Given the description of an element on the screen output the (x, y) to click on. 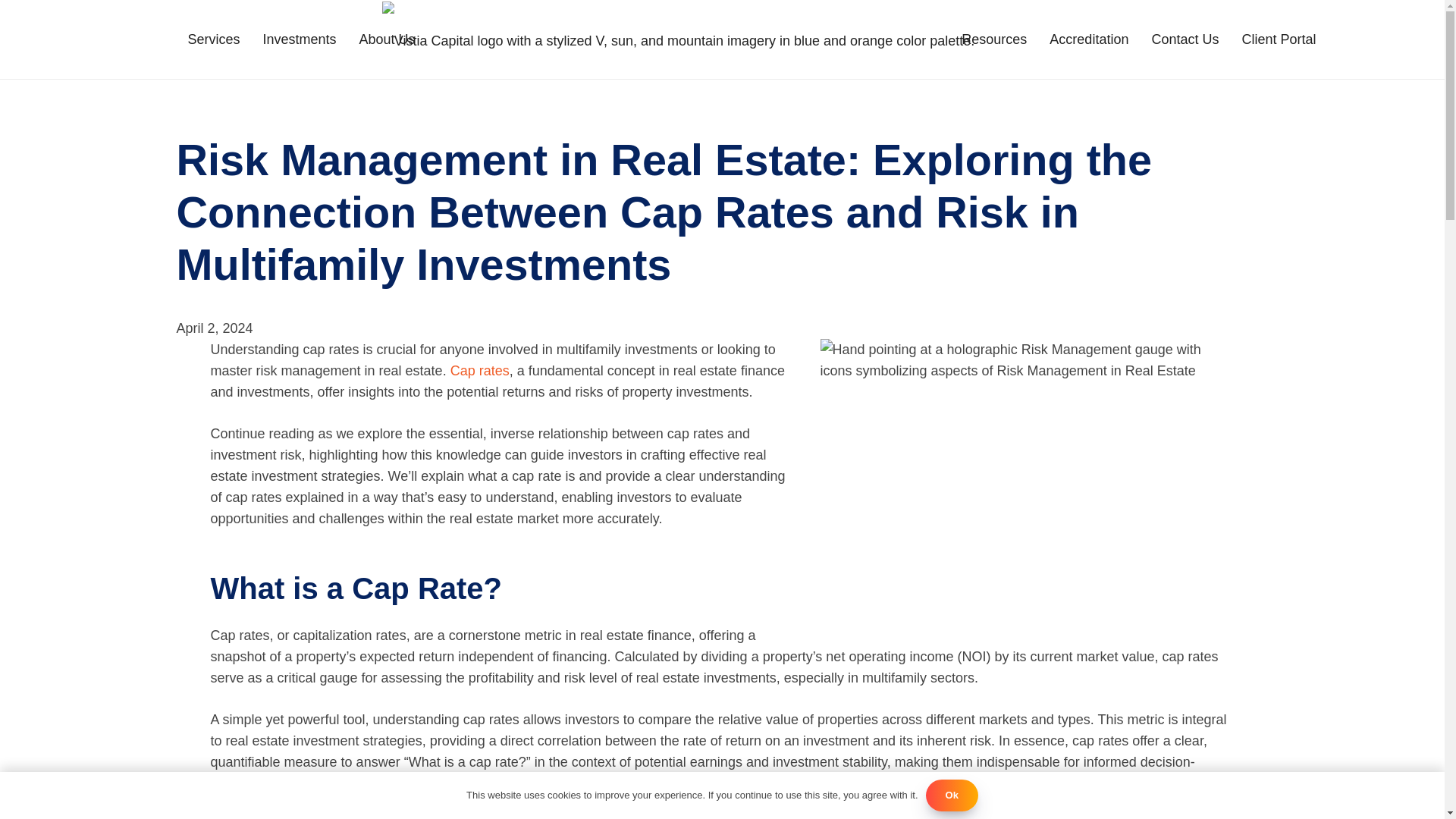
About Us (386, 39)
Investments (299, 39)
Cap rates (479, 370)
Resources (994, 39)
Services (213, 39)
Contact Us (1185, 39)
Accreditation (1089, 39)
Client Portal (1278, 39)
